Given the description of an element on the screen output the (x, y) to click on. 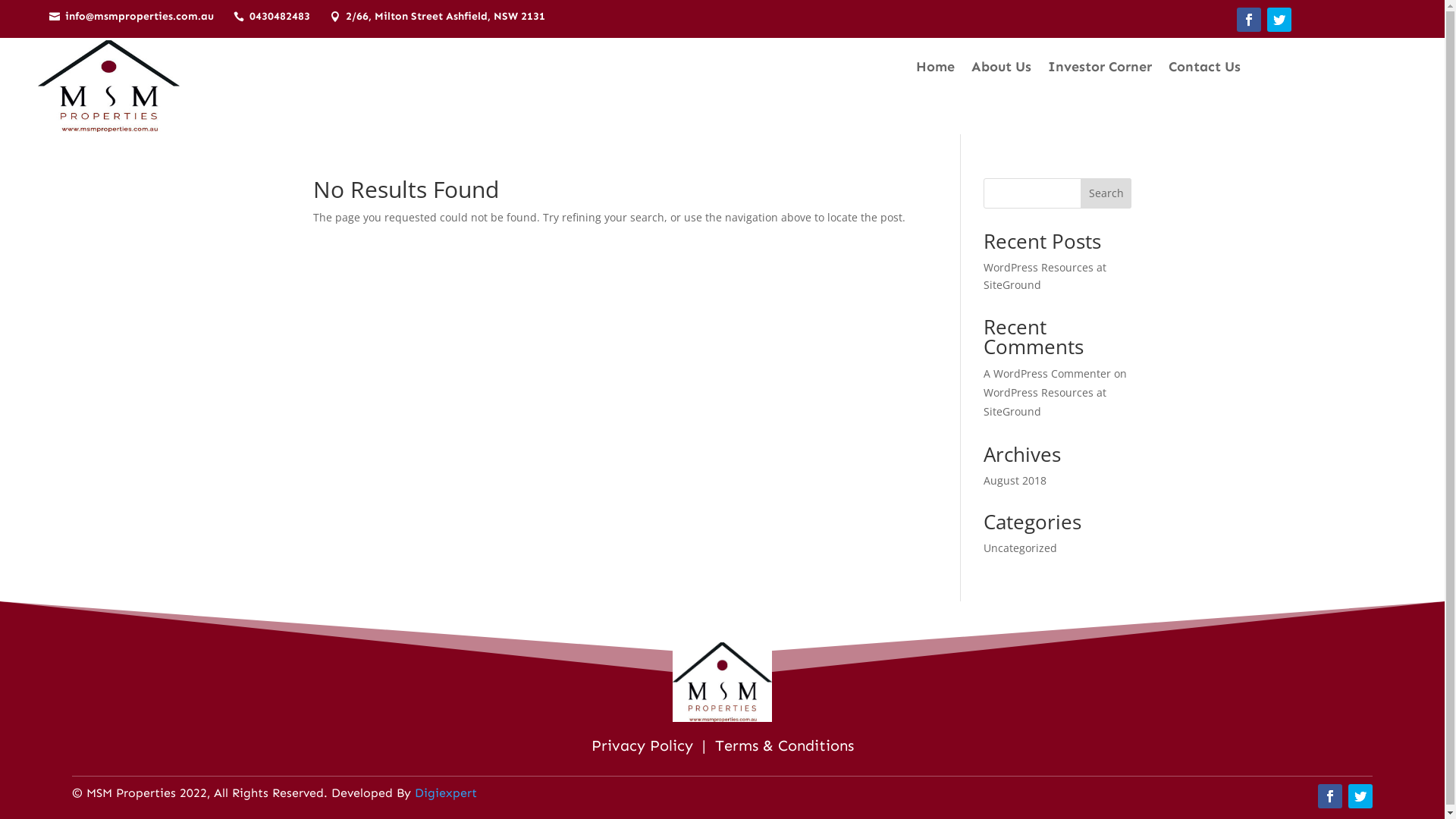
August 2018 Element type: text (1014, 480)
Investor Corner Element type: text (1099, 69)
WordPress Resources at SiteGround Element type: text (1044, 276)
Follow on Facebook Element type: hover (1248, 19)
A WordPress Commenter Element type: text (1046, 373)
logo Element type: hover (721, 681)
Follow on Twitter Element type: hover (1360, 796)
Digiexpert Element type: text (445, 792)
Search Element type: text (1106, 193)
Uncategorized Element type: text (1020, 547)
WordPress Resources at SiteGround Element type: text (1044, 401)
Home Element type: text (935, 69)
logo1 Element type: hover (108, 85)
About Us Element type: text (1001, 69)
Follow on Twitter Element type: hover (1279, 19)
Contact Us Element type: text (1204, 69)
Follow on Facebook Element type: hover (1329, 796)
